Given the description of an element on the screen output the (x, y) to click on. 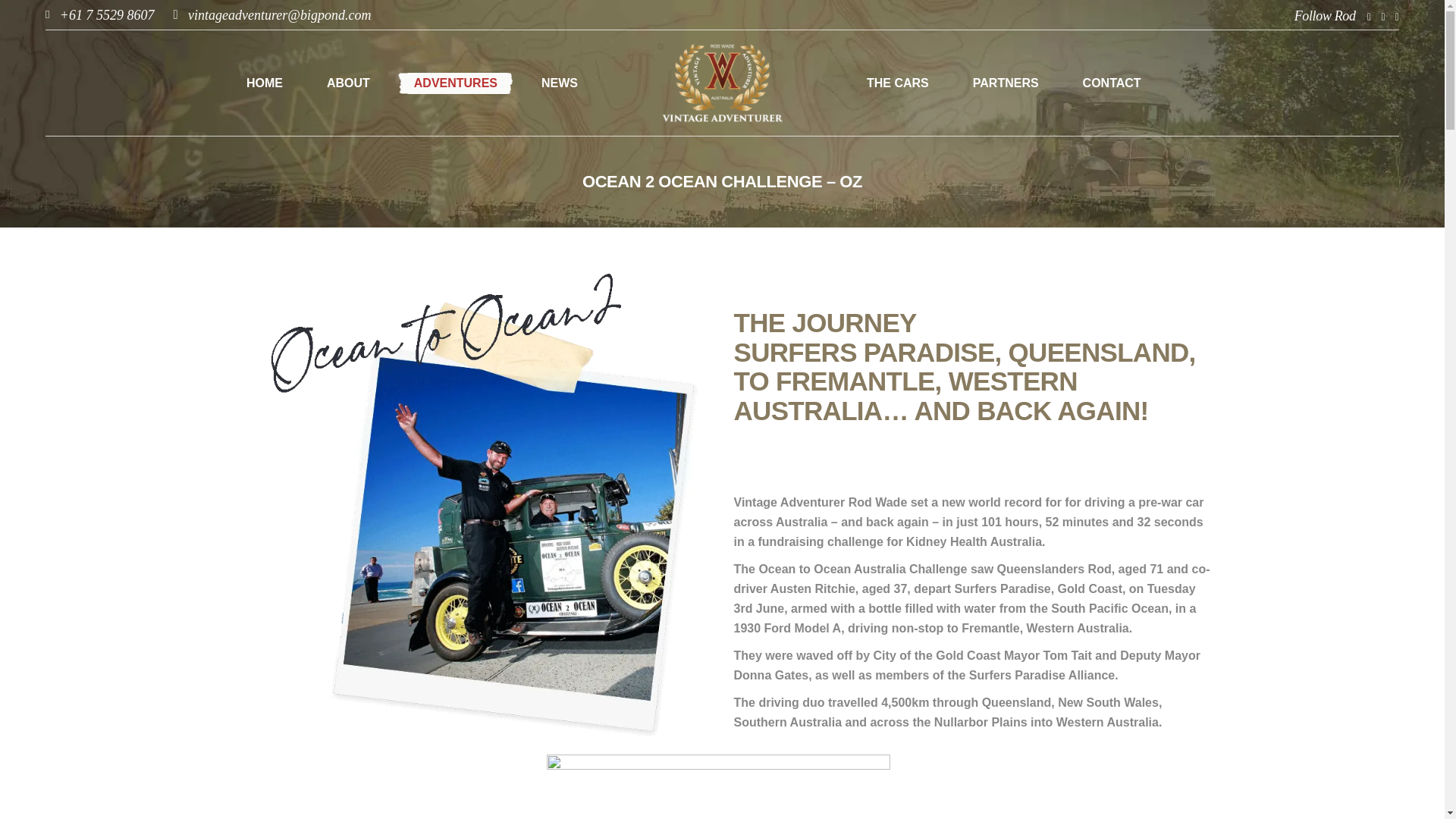
ADVENTURES (455, 83)
THE CARS (897, 83)
NEWS (559, 83)
PARTNERS (1005, 83)
HOME (264, 83)
ABOUT (347, 83)
